Given the description of an element on the screen output the (x, y) to click on. 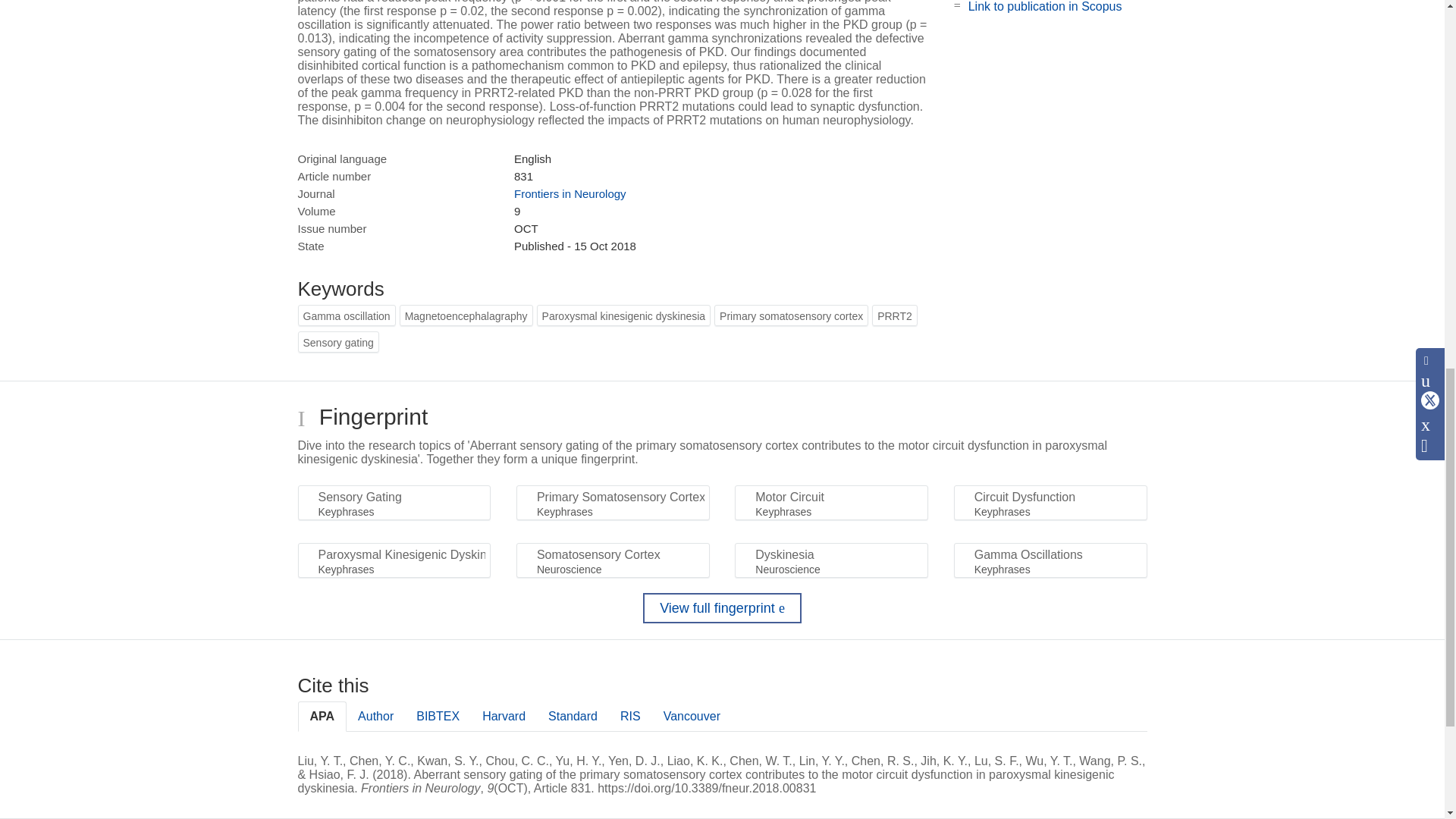
View full fingerprint (722, 607)
Frontiers in Neurology (569, 193)
Link to publication in Scopus (1045, 6)
